Given the description of an element on the screen output the (x, y) to click on. 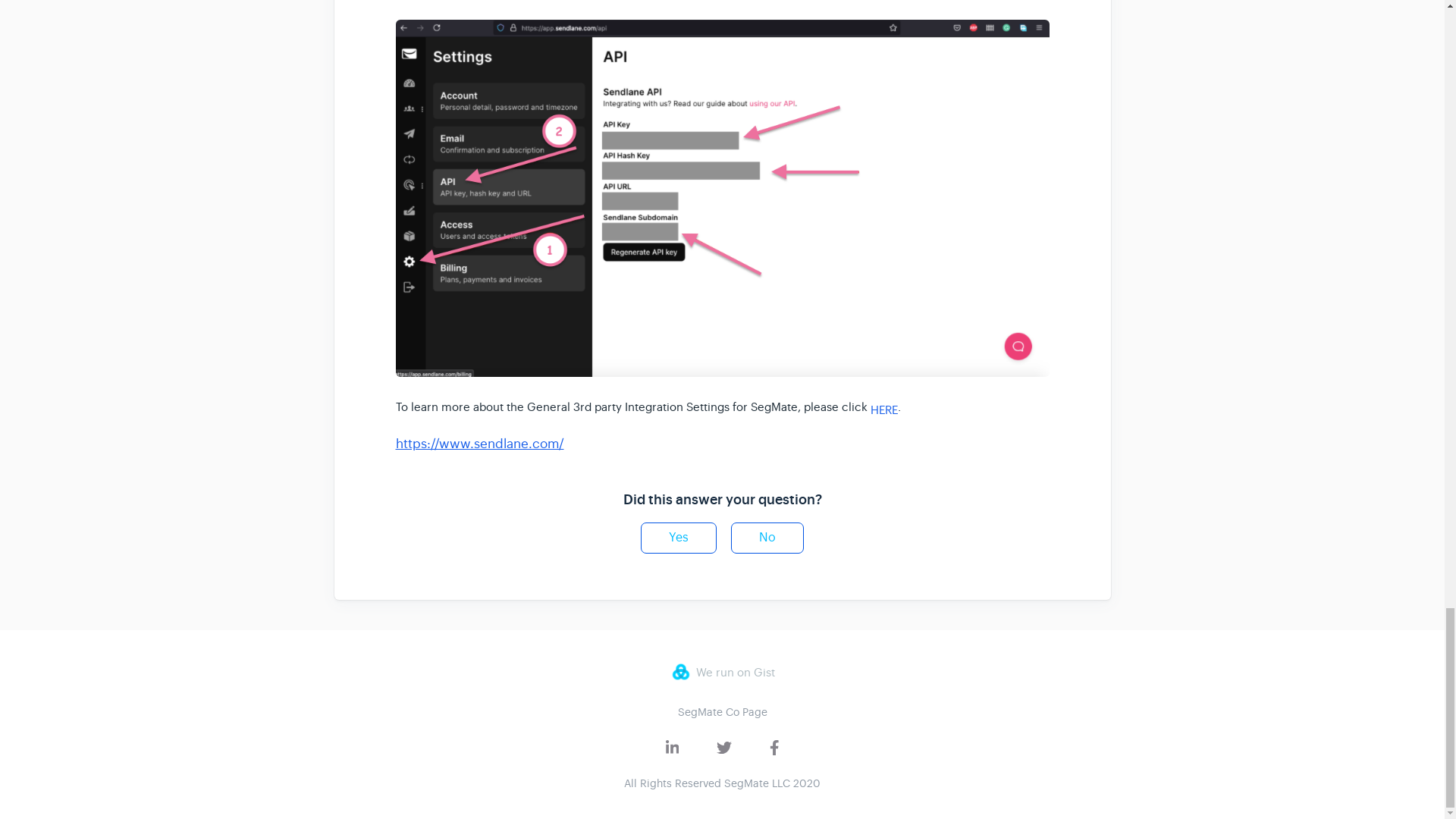
HERE (884, 406)
No (766, 537)
Yes (678, 537)
We run on Gist (721, 671)
SegMate Co Page (722, 712)
